Given the description of an element on the screen output the (x, y) to click on. 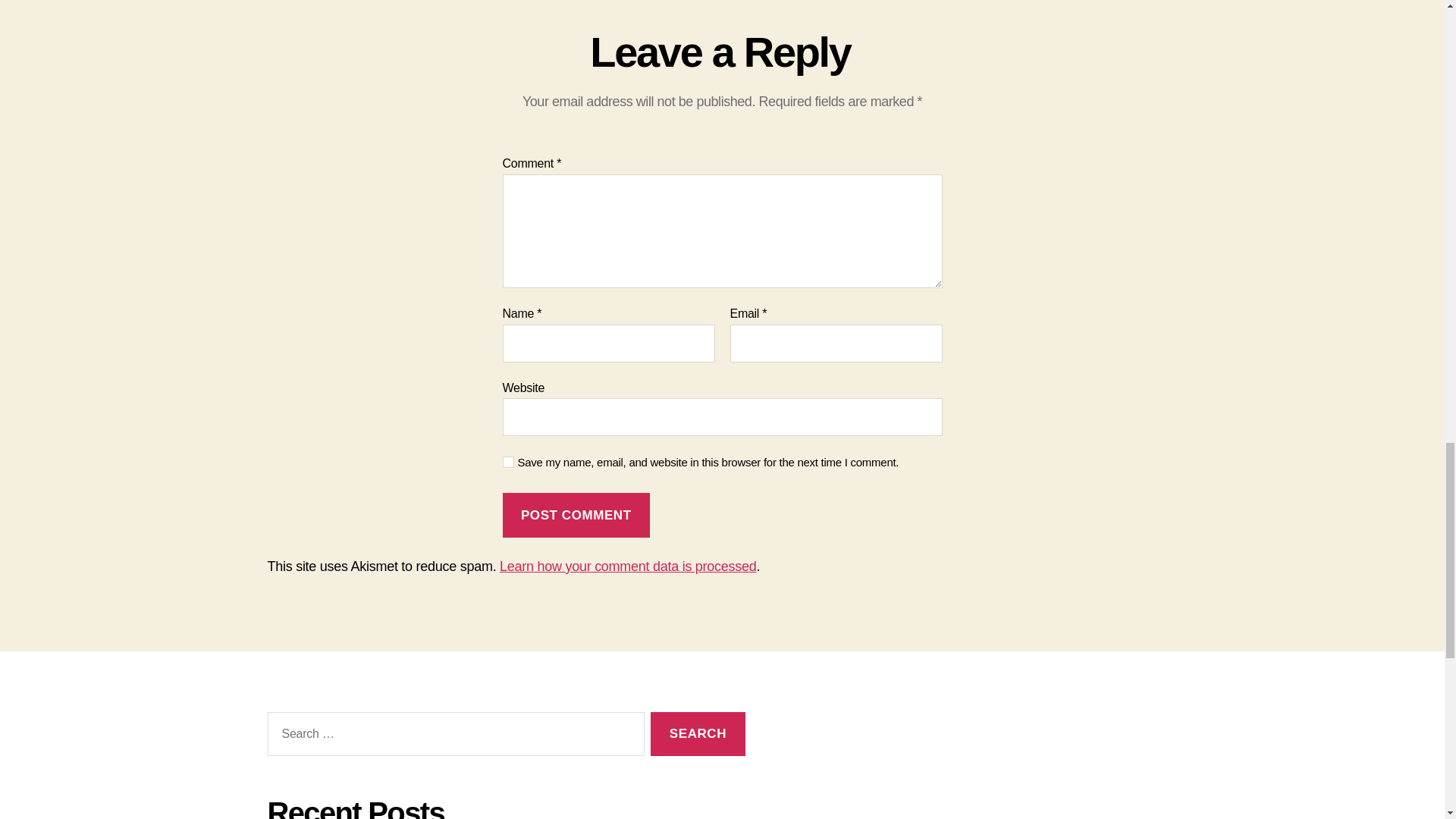
Post Comment (575, 515)
Search (697, 733)
Post Comment (575, 515)
yes (507, 461)
Search (697, 733)
Learn how your comment data is processed (627, 566)
Search (697, 733)
